Given the description of an element on the screen output the (x, y) to click on. 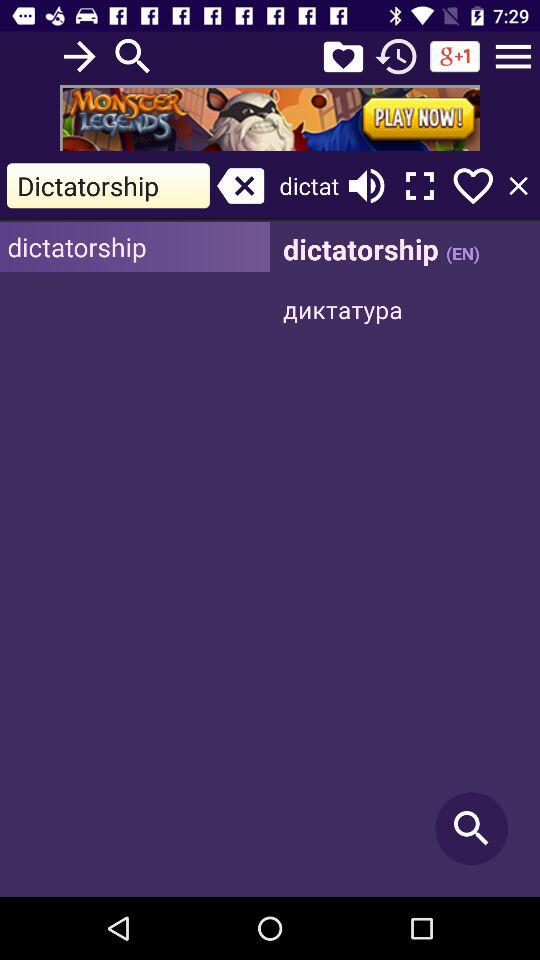
refresh page (396, 56)
